Given the description of an element on the screen output the (x, y) to click on. 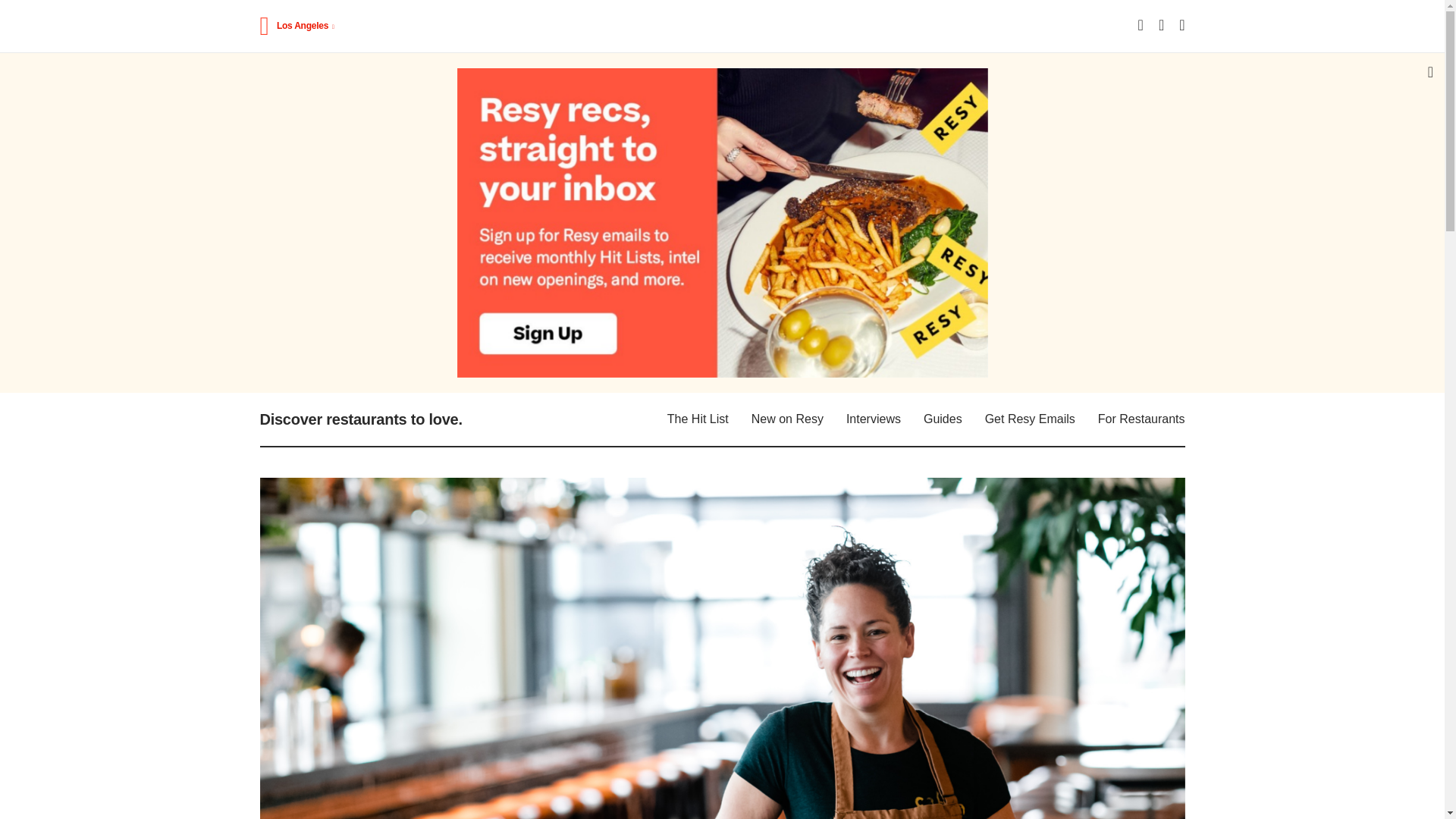
Los Angeles (305, 25)
The Hit List (697, 419)
New on Resy (787, 419)
Discover restaurants to love. (360, 419)
